Given the description of an element on the screen output the (x, y) to click on. 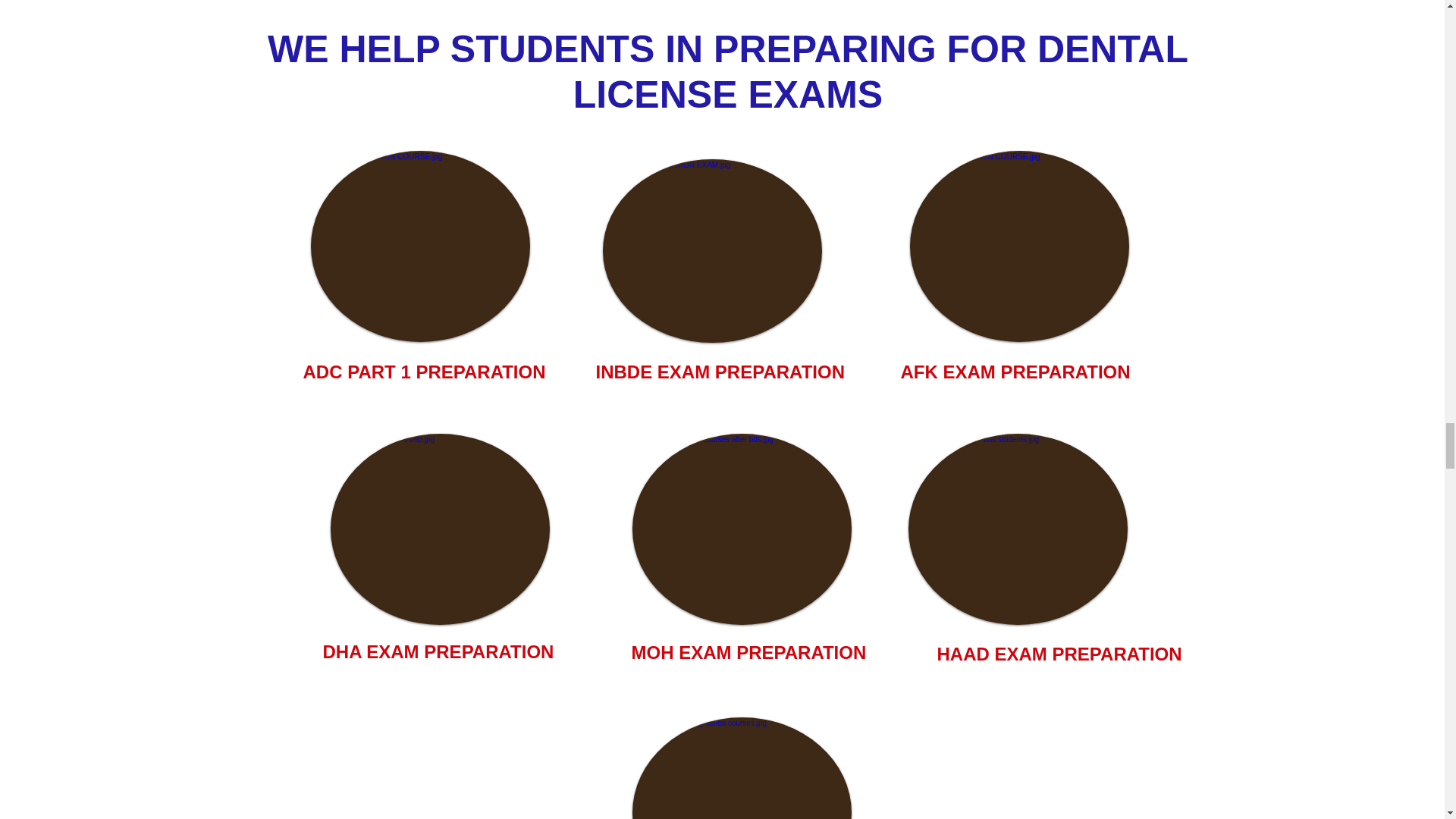
DHA EXAM PREPARATION (438, 651)
MOH EXAM PREPARATION (748, 652)
HAAD EXAM PREPARATION (1059, 656)
